Given the description of an element on the screen output the (x, y) to click on. 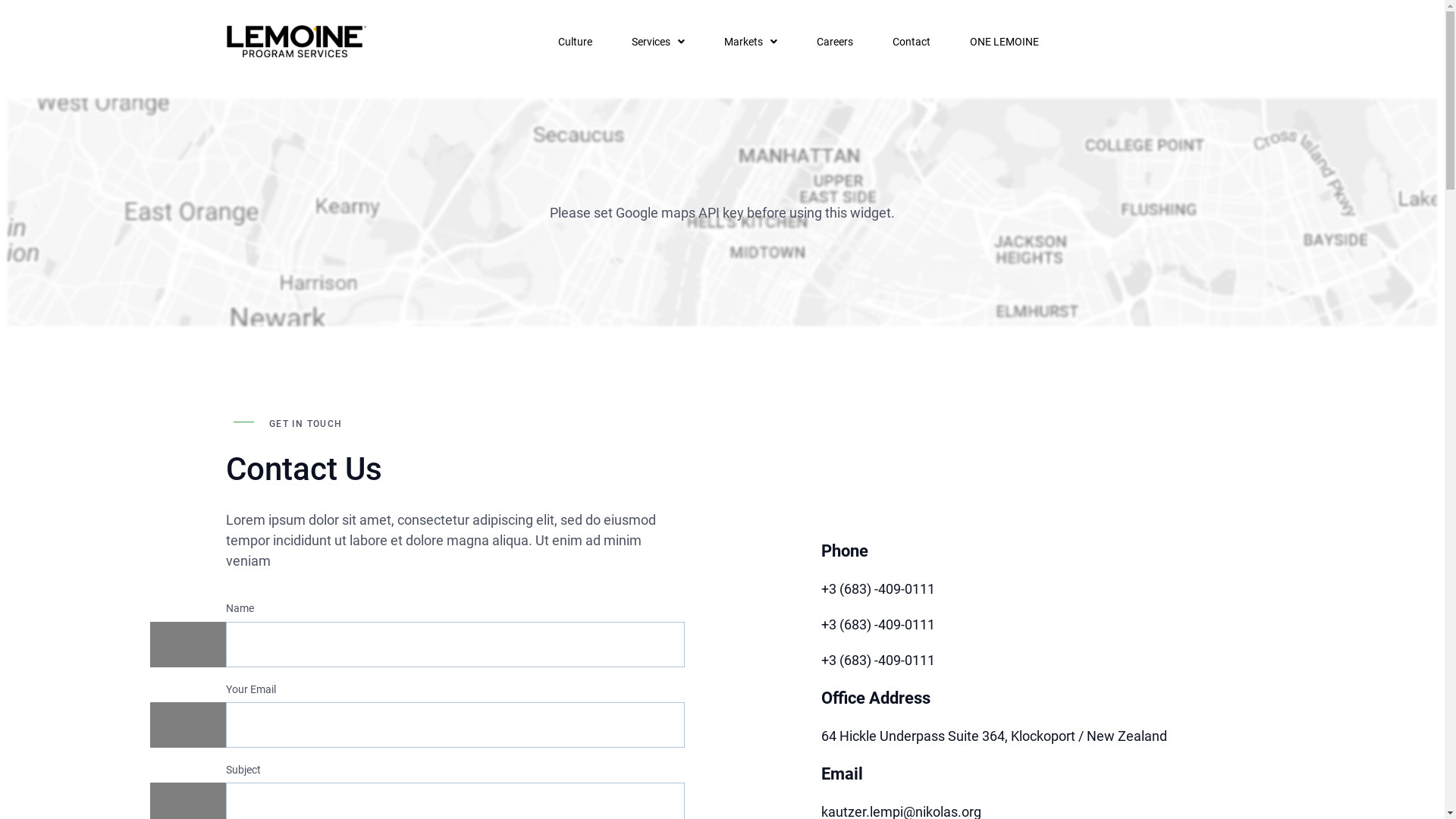
Services Element type: text (657, 40)
Careers Element type: text (834, 40)
Markets Element type: text (749, 40)
Contact Element type: text (910, 40)
Culture Element type: text (574, 40)
ONE LEMOINE Element type: text (1003, 40)
